Given the description of an element on the screen output the (x, y) to click on. 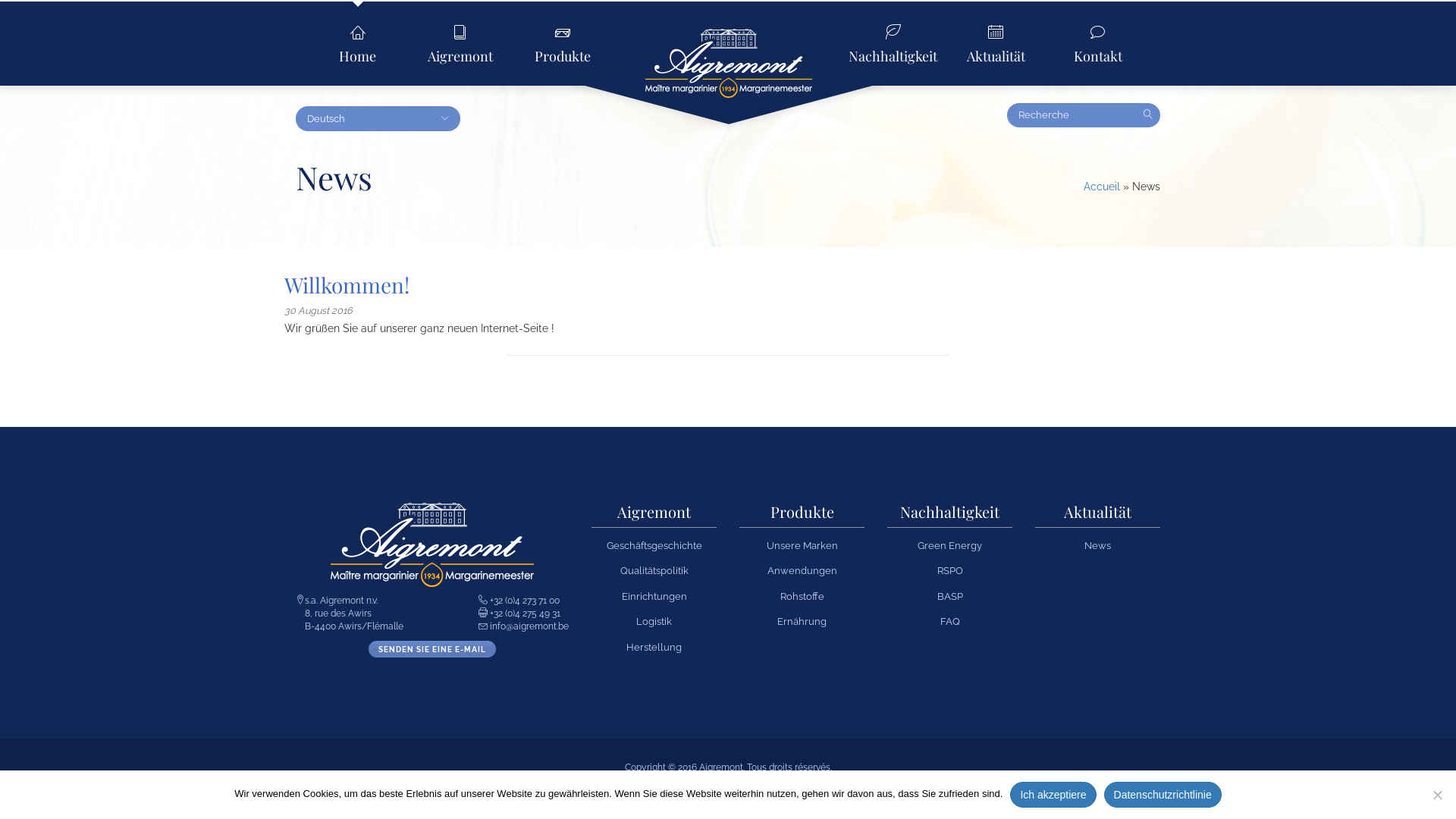
Ich akzeptiere Element type: text (1052, 794)
Herstellung Element type: text (653, 646)
Nachhaltigkeit Element type: text (892, 42)
Recherche pour: Element type: hover (1073, 115)
Rohstoffe Element type: text (801, 596)
BASP Element type: text (950, 596)
Anwendungen Element type: text (802, 570)
FAQ Element type: text (950, 621)
Einrichtungen Element type: text (654, 596)
Accueil Element type: text (1101, 186)
News Element type: text (1097, 545)
Logistik Element type: text (653, 621)
Aigremont Element type: hover (728, 67)
Produkte Element type: text (562, 42)
SENDEN SIE EINE E-MAIL Element type: text (431, 648)
Aigremont Element type: text (459, 42)
Aigremont Element type: text (653, 514)
Kontakt Element type: text (1098, 42)
Produkte Element type: text (801, 514)
Green Energy Element type: text (949, 545)
Nachhaltigkeit Element type: text (949, 514)
Datenschutzrichtlinie Element type: text (1162, 794)
RSPO Element type: text (950, 570)
Willkommen! Element type: text (346, 284)
Non Element type: hover (1436, 794)
Deutsch Element type: text (377, 118)
Home Element type: text (357, 42)
Unsere Marken Element type: text (801, 545)
